Given the description of an element on the screen output the (x, y) to click on. 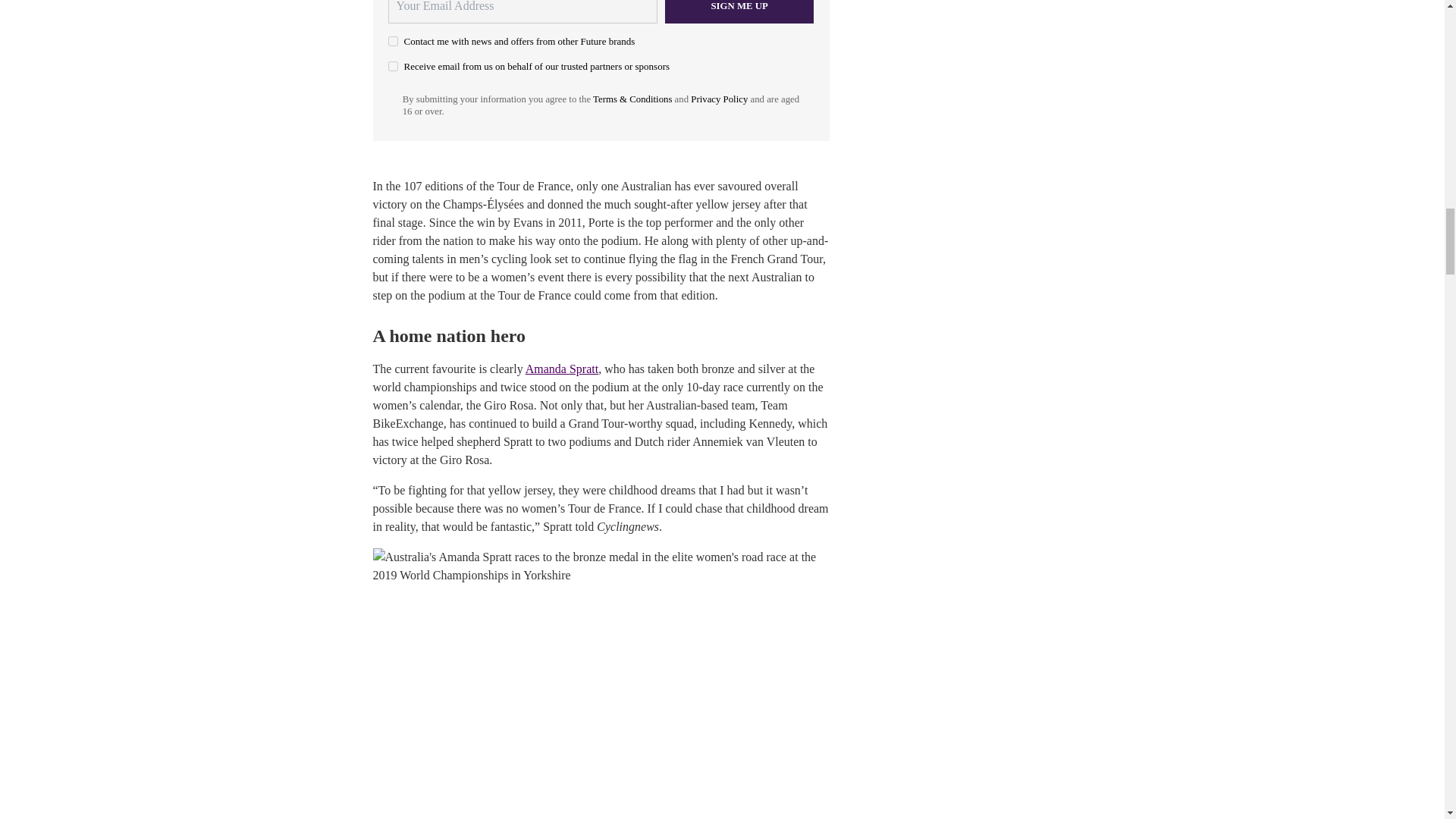
on (392, 66)
on (392, 40)
Sign me up (739, 11)
